Given the description of an element on the screen output the (x, y) to click on. 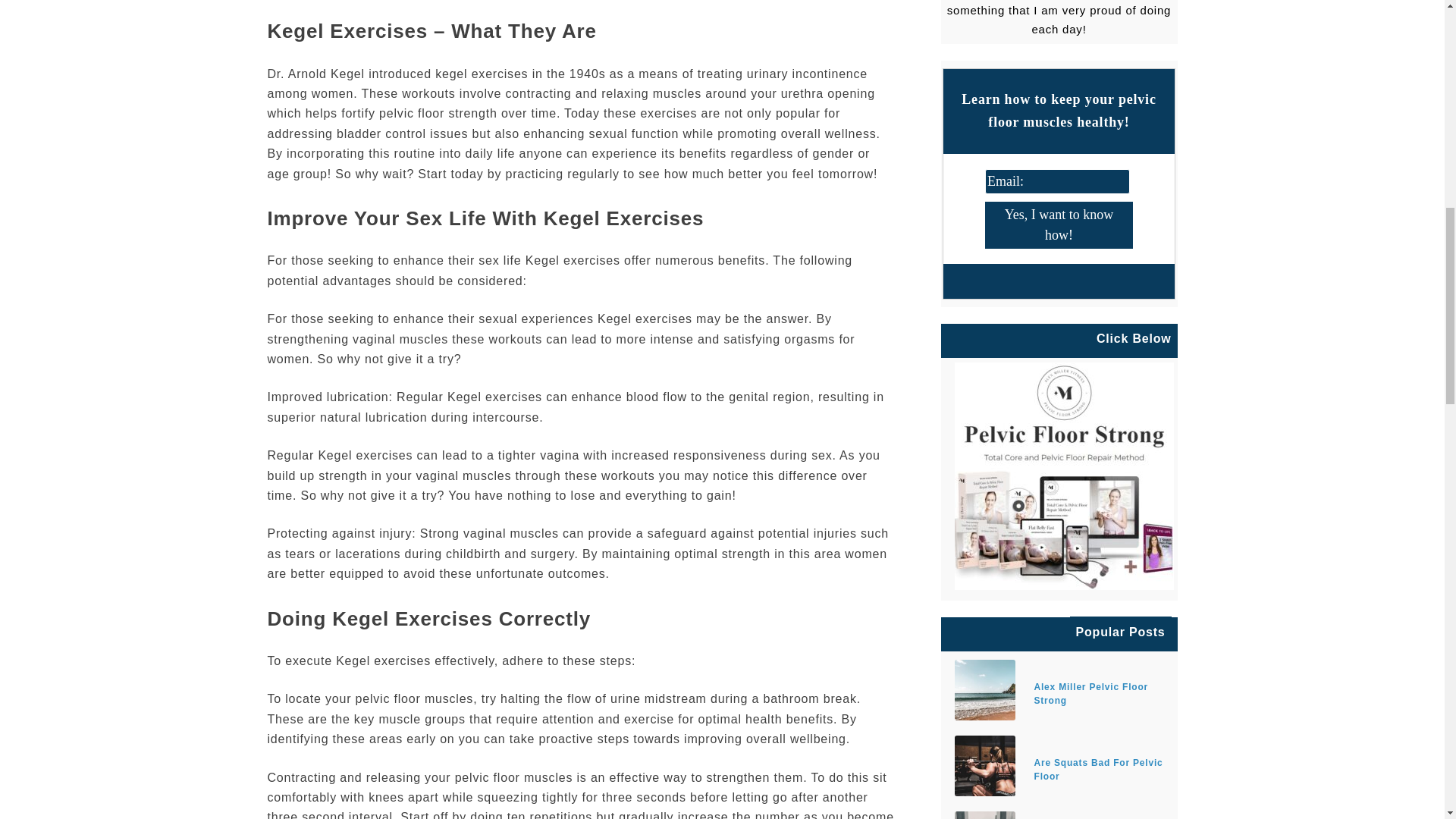
Yes, I want to know how! (1058, 224)
Alex Miller Pelvic Floor Strong (983, 690)
Are Squats Bad For Pelvic Floor (983, 765)
Yes, I want to know how! (1058, 224)
Alex Miller Pelvic Floor Strong (1058, 693)
Email: (1057, 181)
Do I Need Pelvic Floor Therapy (983, 815)
Are Squats Bad For Pelvic Floor (1058, 769)
